Given the description of an element on the screen output the (x, y) to click on. 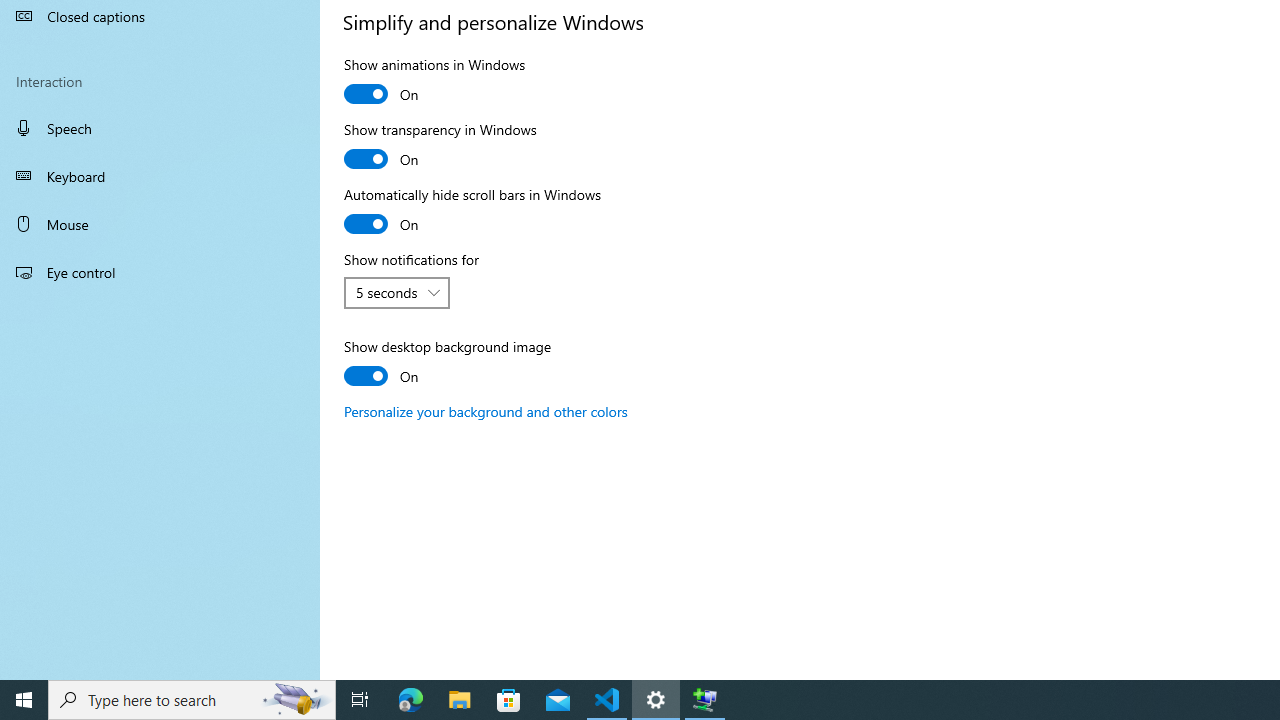
Automatically hide scroll bars in Windows (472, 212)
Mouse (160, 223)
Show animations in Windows (435, 82)
Keyboard (160, 175)
